Given the description of an element on the screen output the (x, y) to click on. 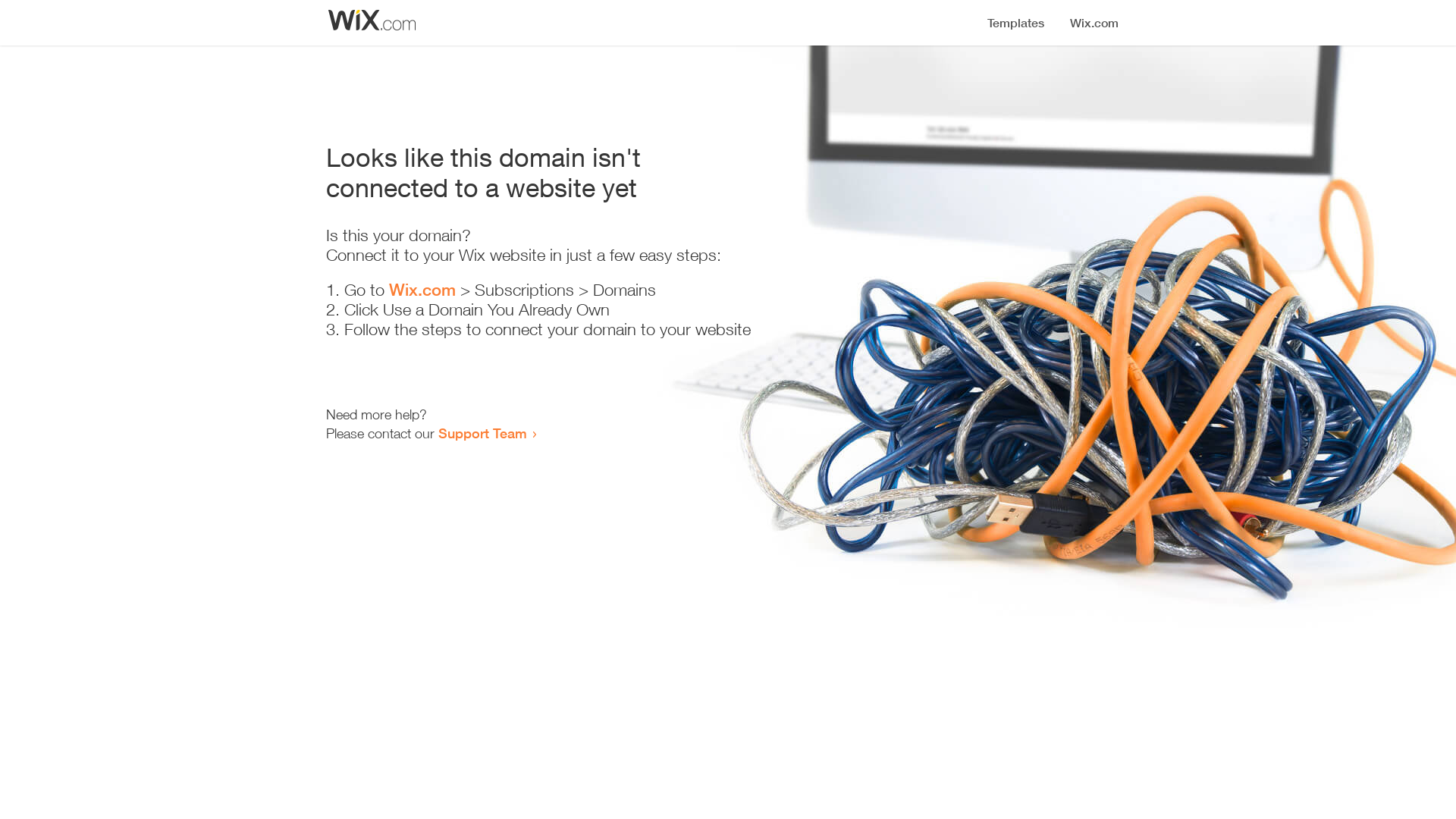
Wix.com Element type: text (422, 289)
Support Team Element type: text (482, 432)
